Given the description of an element on the screen output the (x, y) to click on. 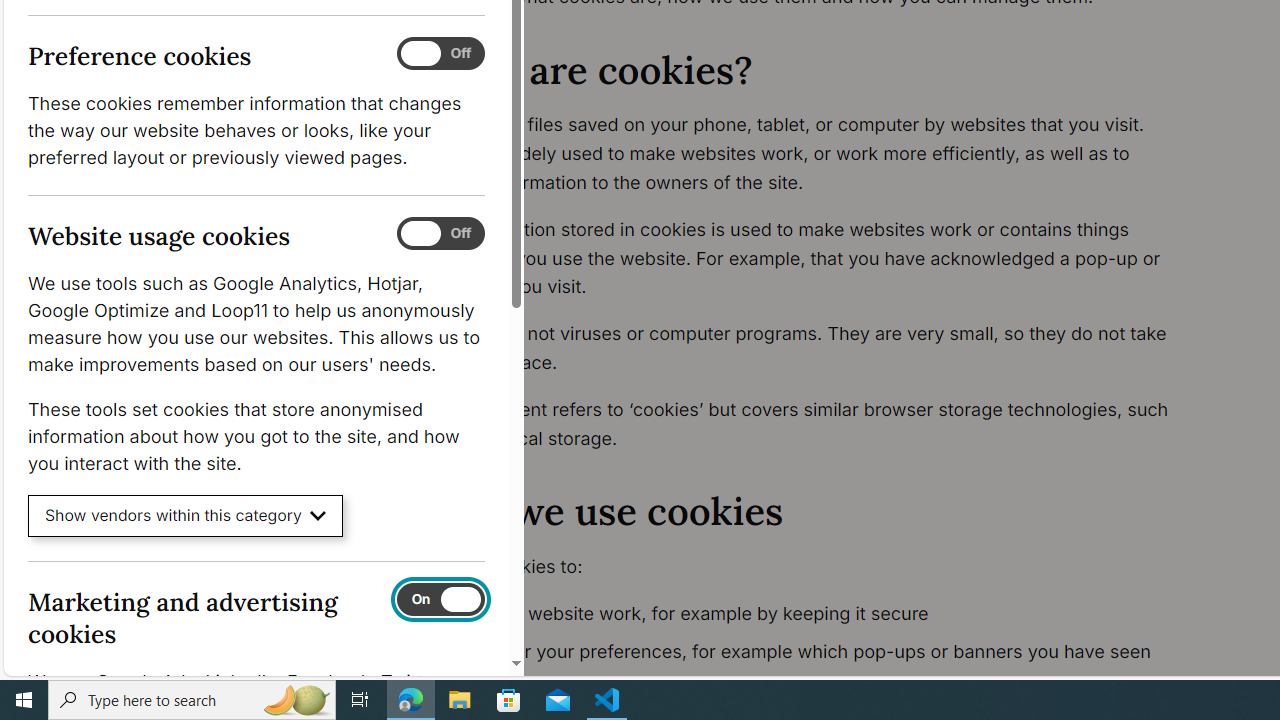
make our website work, for example by keeping it secure (818, 614)
Website usage cookies (440, 233)
Show vendors within this category (185, 516)
Preference cookies (440, 53)
Marketing and advertising cookies (440, 599)
